Given the description of an element on the screen output the (x, y) to click on. 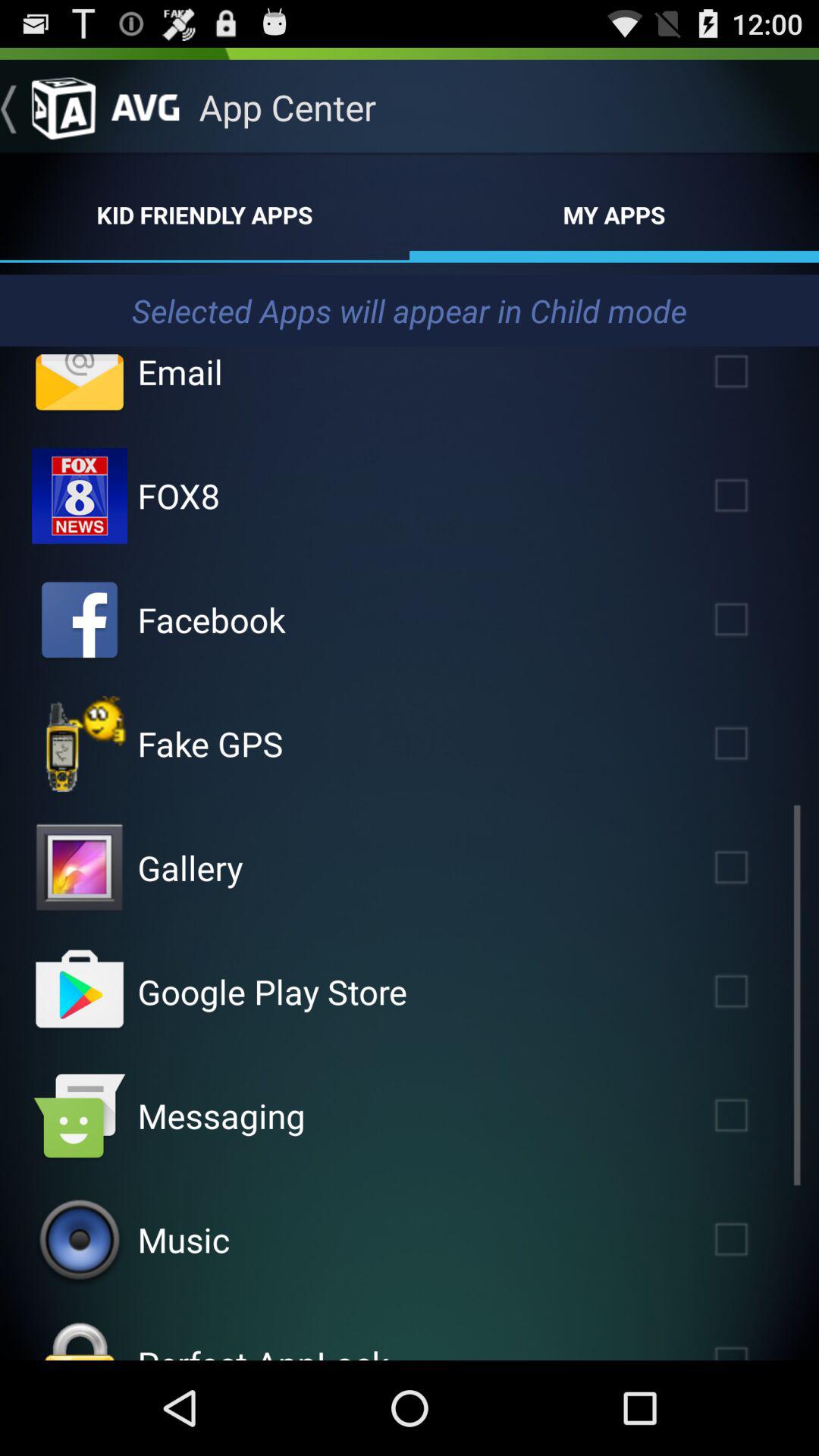
select apps (753, 619)
